Given the description of an element on the screen output the (x, y) to click on. 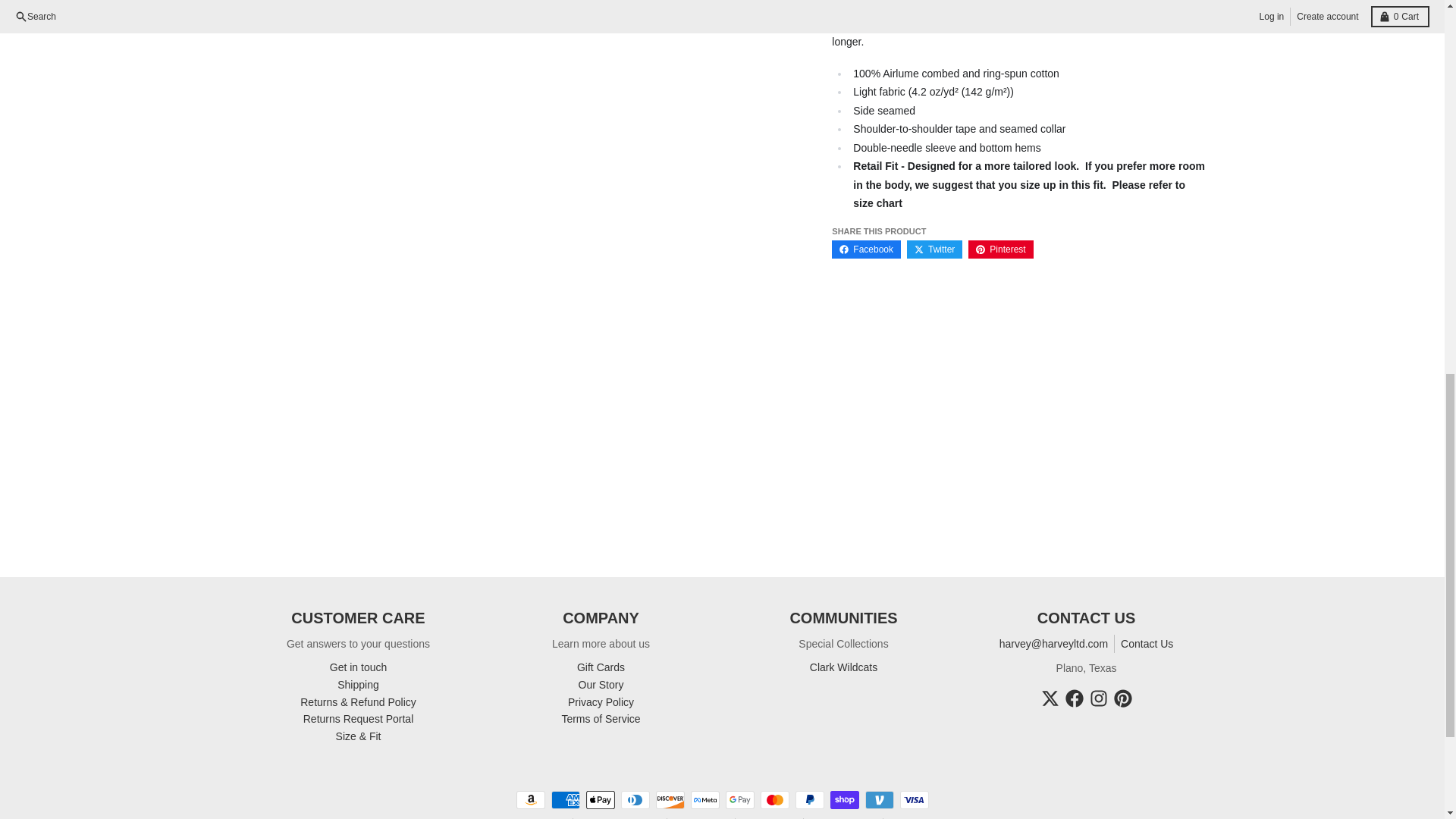
Facebook - Harvey Ltd (1073, 698)
Twitter - Harvey Ltd (1049, 698)
Instagram - Harvey Ltd (1097, 698)
Pinterest - Harvey Ltd (1122, 698)
